Given the description of an element on the screen output the (x, y) to click on. 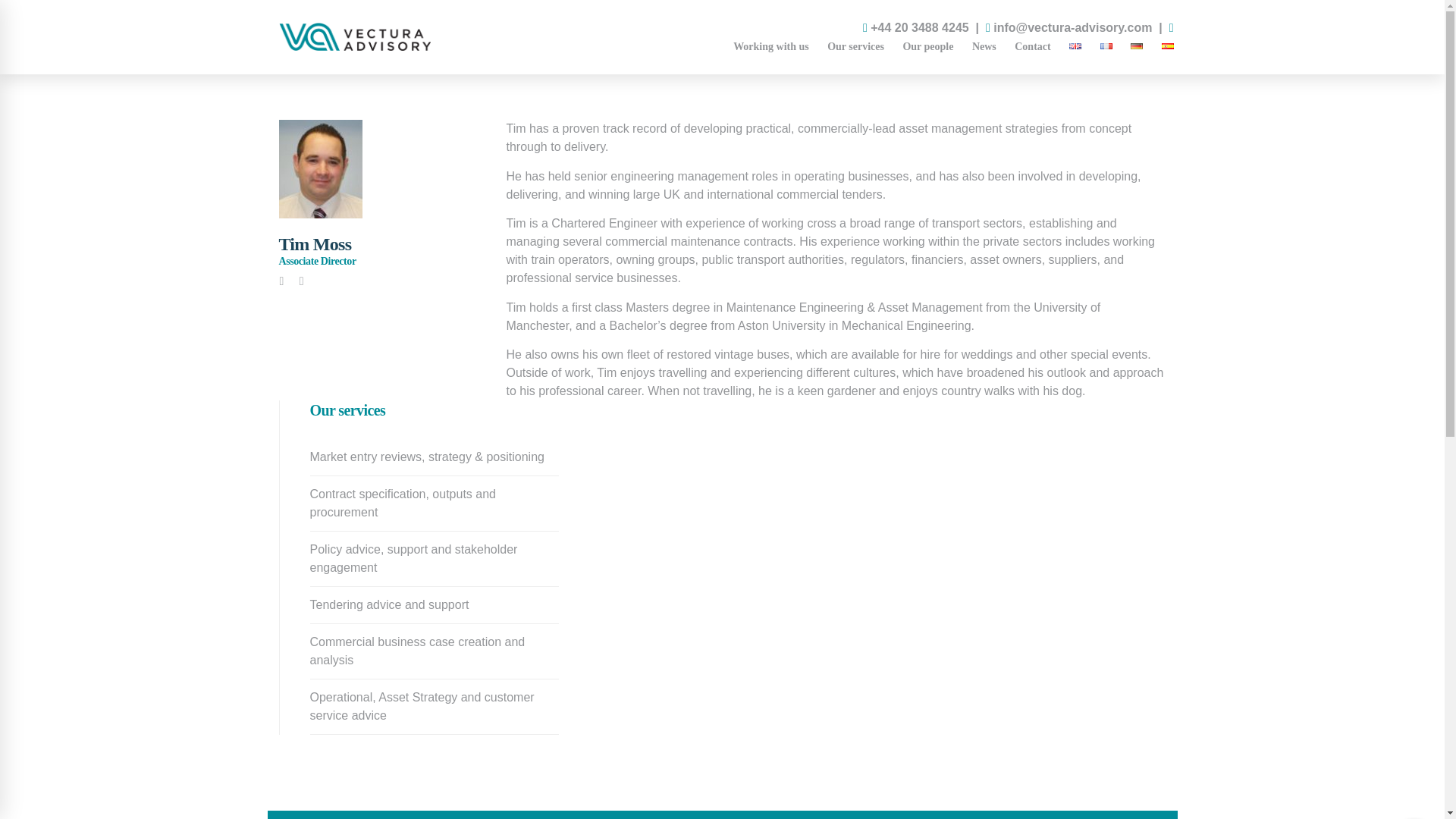
Working with us (770, 47)
Tendering advice and support (433, 605)
Contact (1032, 47)
Our services (855, 47)
Contract specification, outputs and procurement (433, 502)
Commercial business case creation and analysis (433, 651)
Policy advice, support and stakeholder engagement (433, 558)
Our people (927, 47)
Operational, Asset Strategy and customer service advice (433, 706)
News (983, 47)
